Given the description of an element on the screen output the (x, y) to click on. 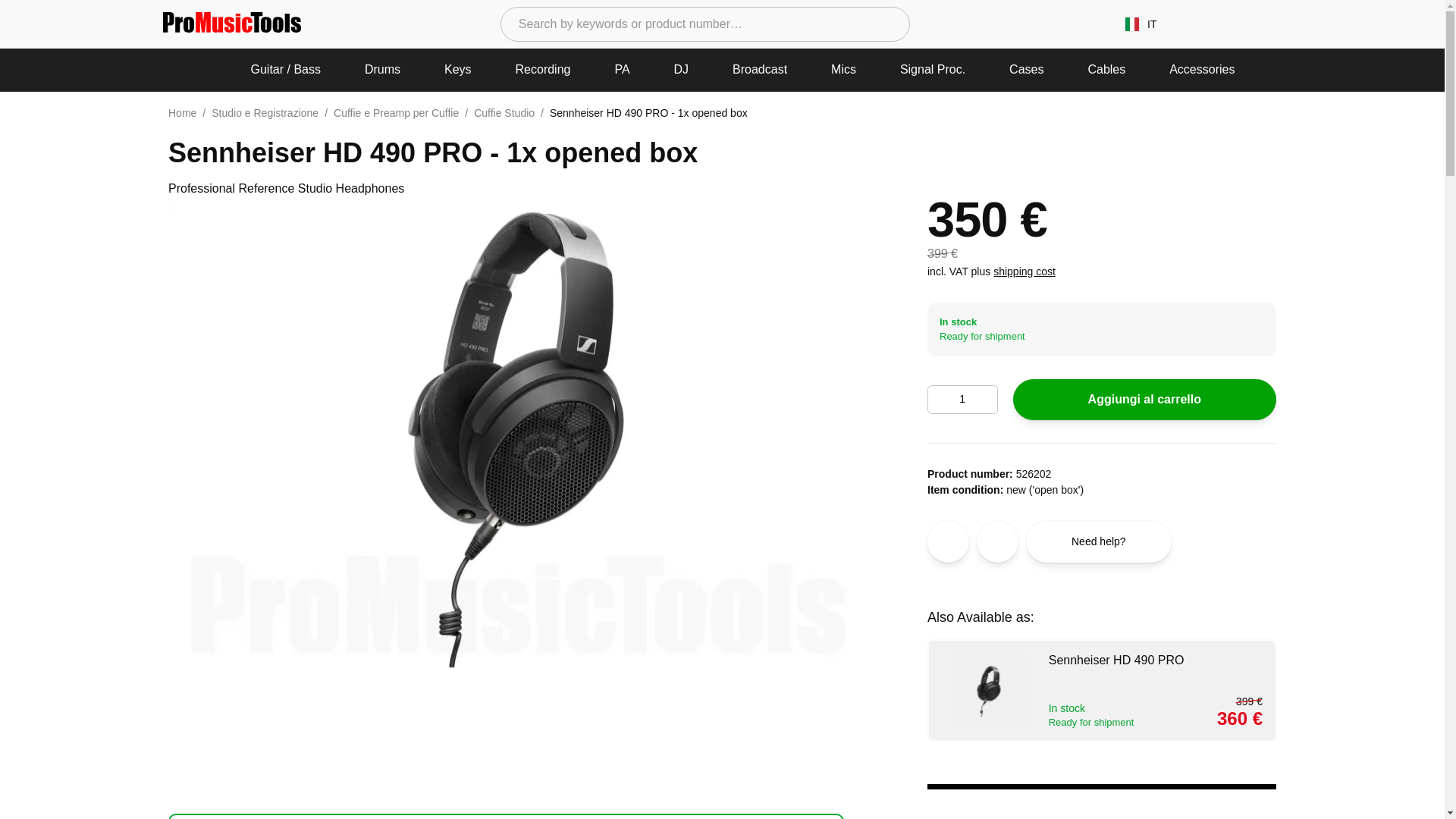
Keys (457, 69)
IT (1140, 24)
Recording (542, 69)
Open share tab (996, 541)
Accessories (1201, 69)
Need help? (1099, 541)
Cases (1026, 69)
Aggiungi ai desideri (948, 541)
Mics (843, 69)
Cables (1106, 69)
